Given the description of an element on the screen output the (x, y) to click on. 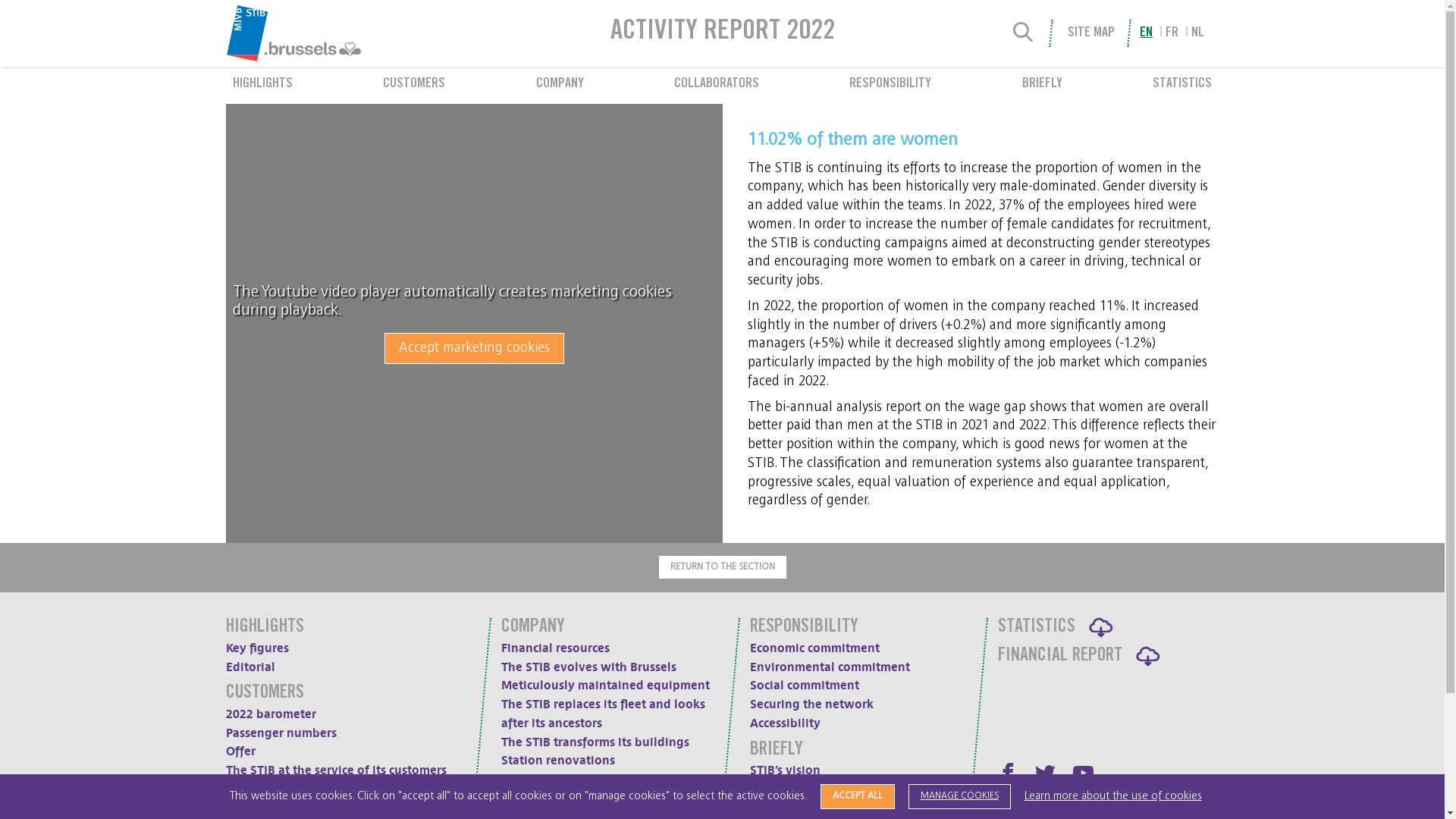
Securing the network Element type: text (810, 704)
Economic commitment Element type: text (813, 648)
COLLABORATORS Element type: text (554, 806)
The STIB replaces its fleet and looks after its ancestors Element type: text (603, 713)
The STIB transforms its buildings Element type: text (595, 742)
2022 barometer Element type: text (270, 714)
Key figures Element type: text (256, 648)
The STIB supports construction sites Element type: text (328, 789)
The STIB evolves with Brussels Element type: text (588, 667)
Social commitment Element type: text (803, 685)
COLLABORATORS Element type: text (716, 84)
Quality of service Element type: text (551, 779)
Learn more about the use of cookies Element type: text (1112, 796)
COMPANY Element type: text (559, 84)
Editorial Element type: text (250, 667)
Management bodies Element type: text (807, 789)
Accept marketing cookies Element type: text (474, 348)
Environmental commitment Element type: text (829, 667)
RESPONSIBILITY Element type: text (803, 627)
Offer Element type: text (240, 751)
FR Element type: text (1172, 32)
CUSTOMERS Element type: text (264, 693)
Search Element type: hover (1023, 33)
HIGHLIGHTS Element type: text (262, 84)
Station renovations Element type: text (558, 760)
EN Element type: text (1146, 32)
COMPANY Element type: text (532, 627)
Meticulously maintained equipment Element type: text (605, 685)
STATISTICS Element type: text (1181, 84)
Financial resources Element type: text (555, 648)
STATISTICS Element type: text (1036, 627)
RETURN TO THE SECTION Element type: text (721, 566)
The STIB at the service of its customers Element type: text (335, 770)
RESPONSIBILITY Element type: text (890, 84)
ACCEPT ALL Element type: text (857, 796)
CUSTOMERS Element type: text (413, 84)
BRIEFLY Element type: text (775, 749)
NL Element type: text (1198, 32)
HIGHLIGHTS Element type: text (264, 627)
Employee well-being Element type: text (589, 9)
MANAGE COOKIES Element type: text (959, 796)
BRIEFLY Element type: text (1042, 84)
Passenger numbers Element type: text (280, 733)
The STIB listens to its employees Element type: text (606, 24)
Accessibility Element type: text (784, 723)
Company structure Element type: text (803, 808)
